Given the description of an element on the screen output the (x, y) to click on. 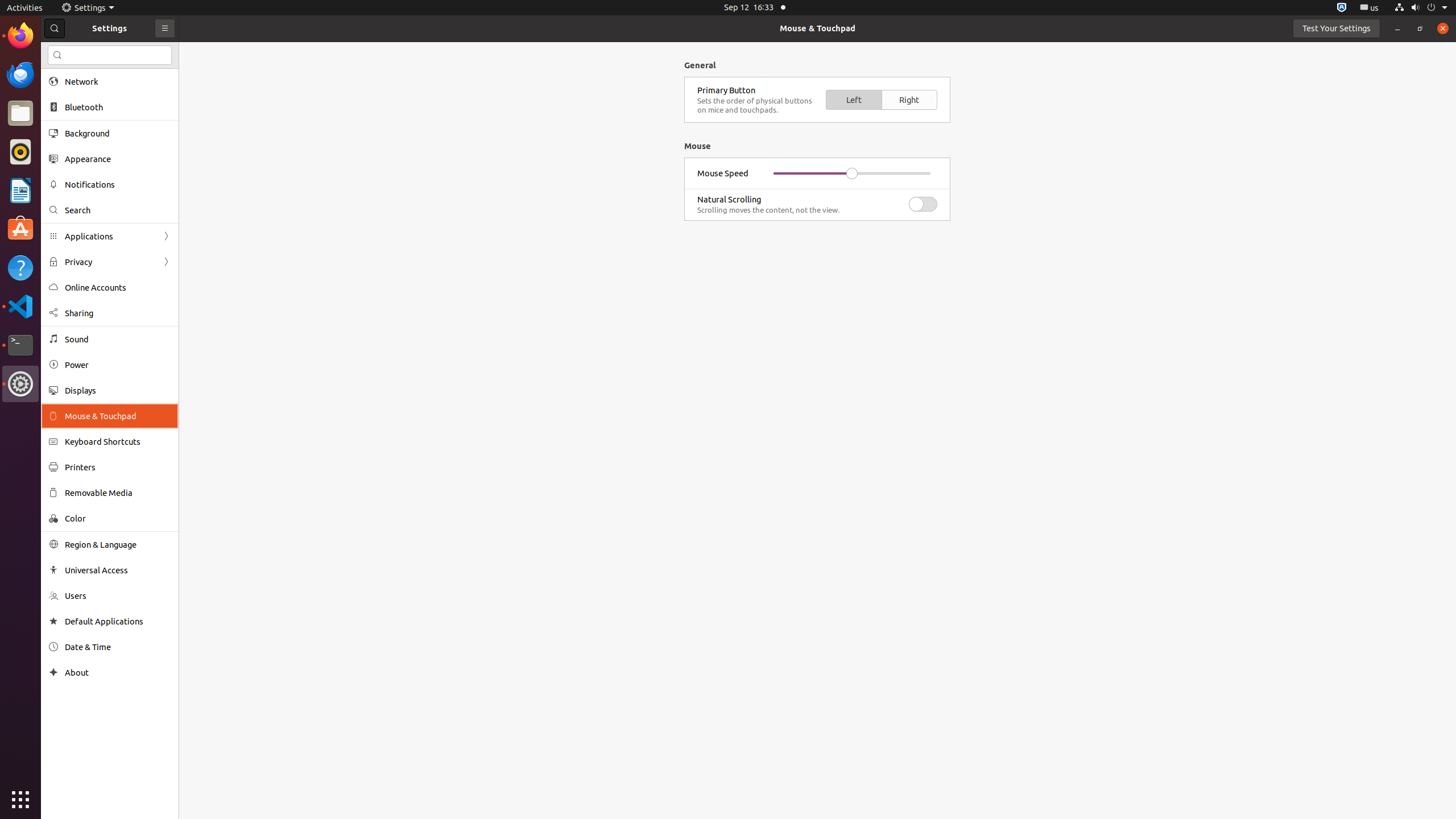
Terminal Element type: push-button (20, 344)
Right Element type: radio-button (909, 99)
Printers Element type: label (117, 467)
Activities Element type: label (24, 7)
li.txt Element type: label (146, 50)
